Given the description of an element on the screen output the (x, y) to click on. 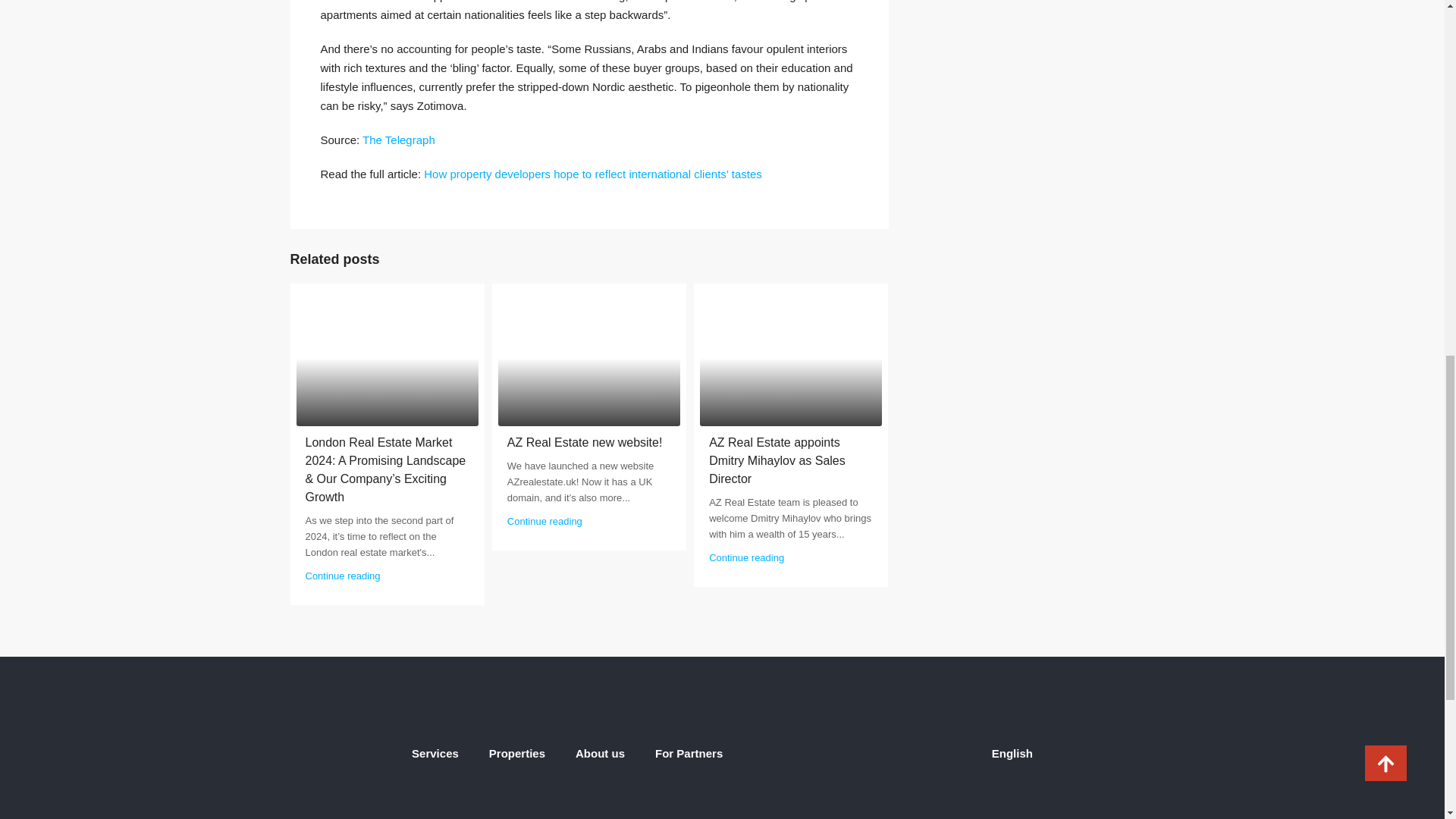
English (893, 753)
